Given the description of an element on the screen output the (x, y) to click on. 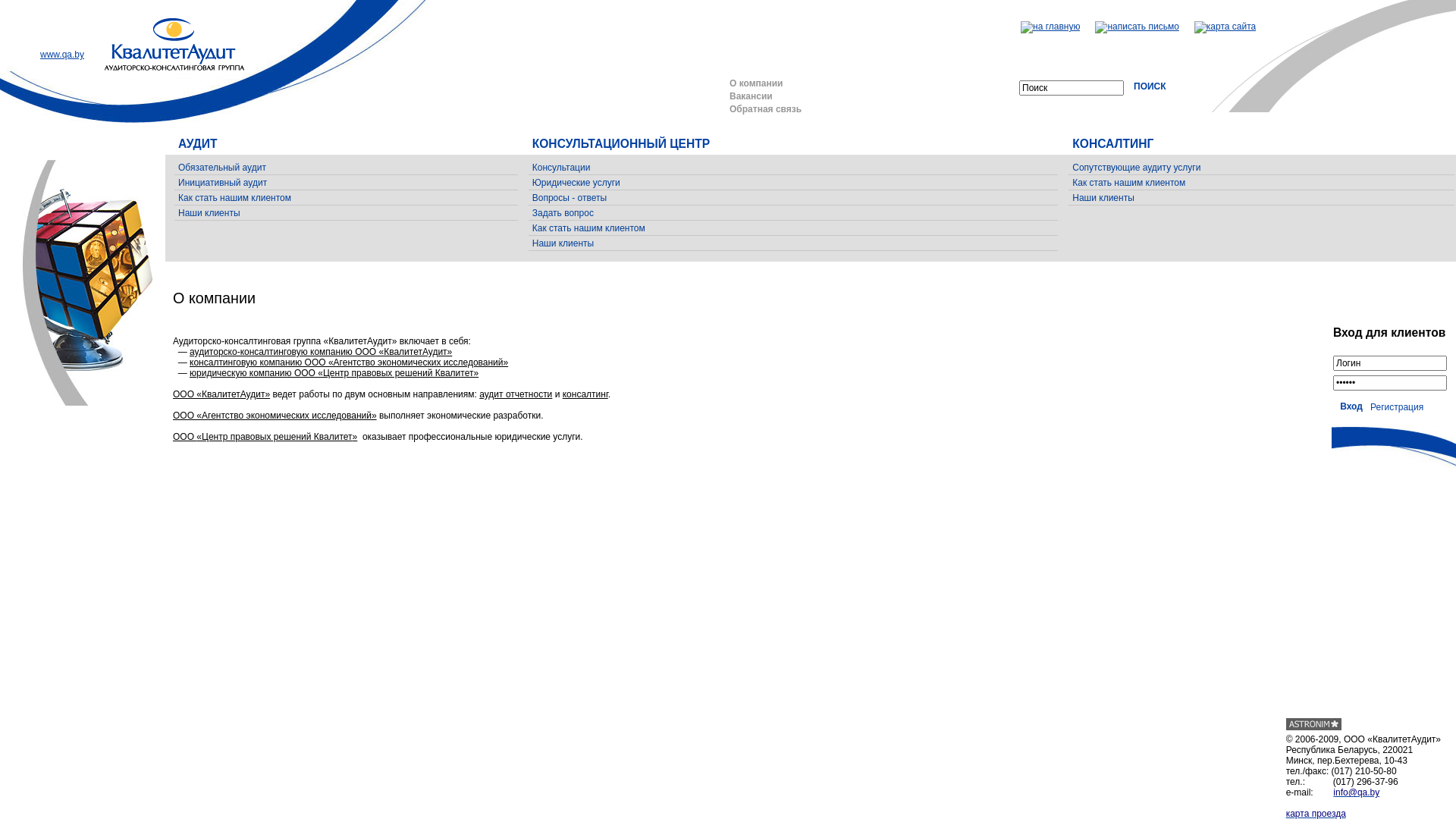
info@qa.by Element type: text (1356, 792)
www.qa.by Element type: text (62, 54)
